Given the description of an element on the screen output the (x, y) to click on. 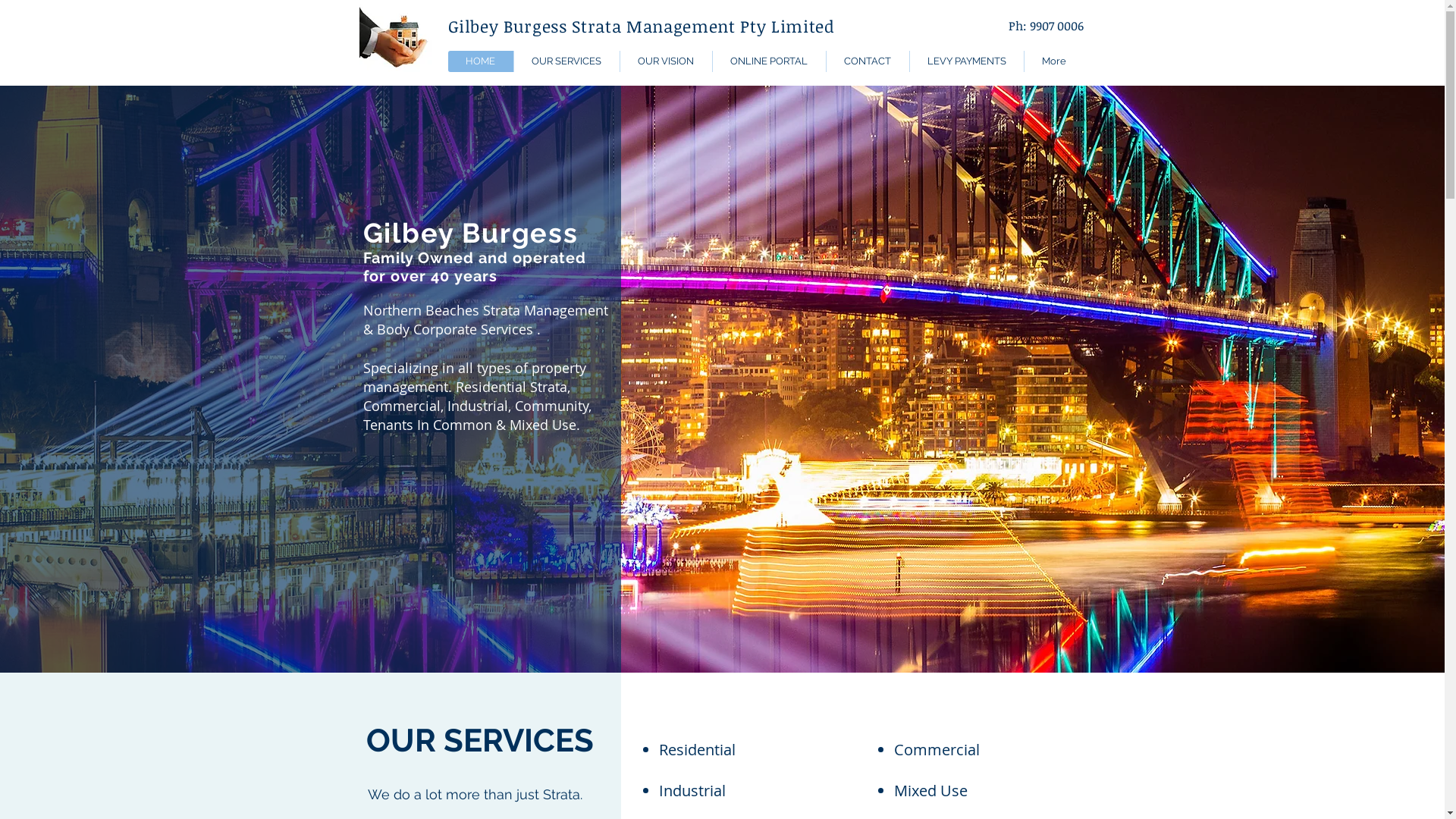
LEVY PAYMENTS Element type: text (965, 61)
ONLINE PORTAL Element type: text (768, 61)
HOME Element type: text (479, 61)
OUR VISION Element type: text (664, 61)
OUR SERVICES Element type: text (565, 61)
Gilbey Burgess Strata Management Pty Limited Element type: text (640, 25)
CONTACT Element type: text (866, 61)
